Given the description of an element on the screen output the (x, y) to click on. 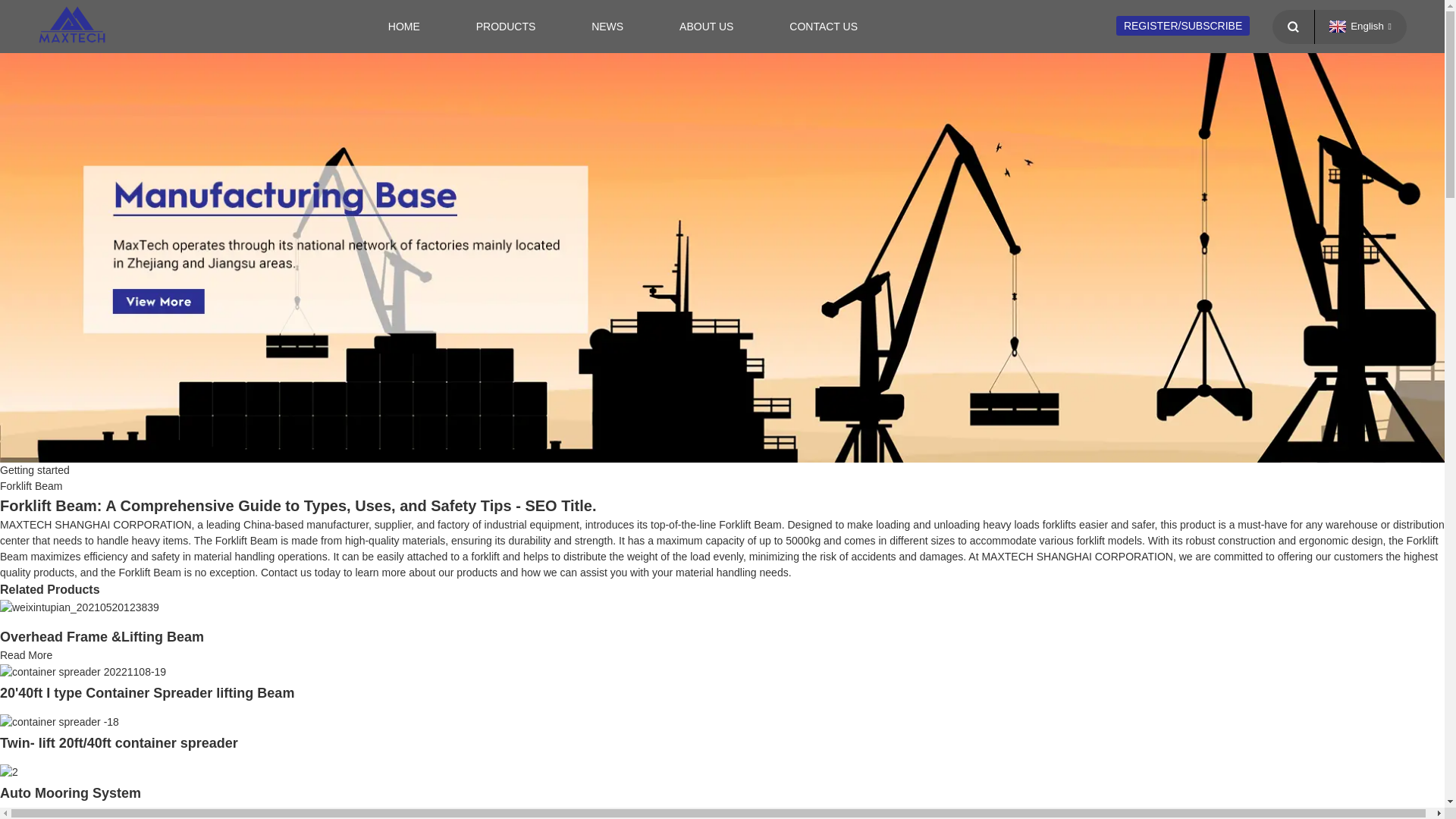
Auto Mooring System (70, 792)
HOME (403, 26)
PRODUCTS (506, 26)
Auto Mooring System (8, 770)
20'40ft I type Container Spreader lifting Beam (147, 693)
20'40ft I type Container Spreader lifting Beam (82, 671)
